Given the description of an element on the screen output the (x, y) to click on. 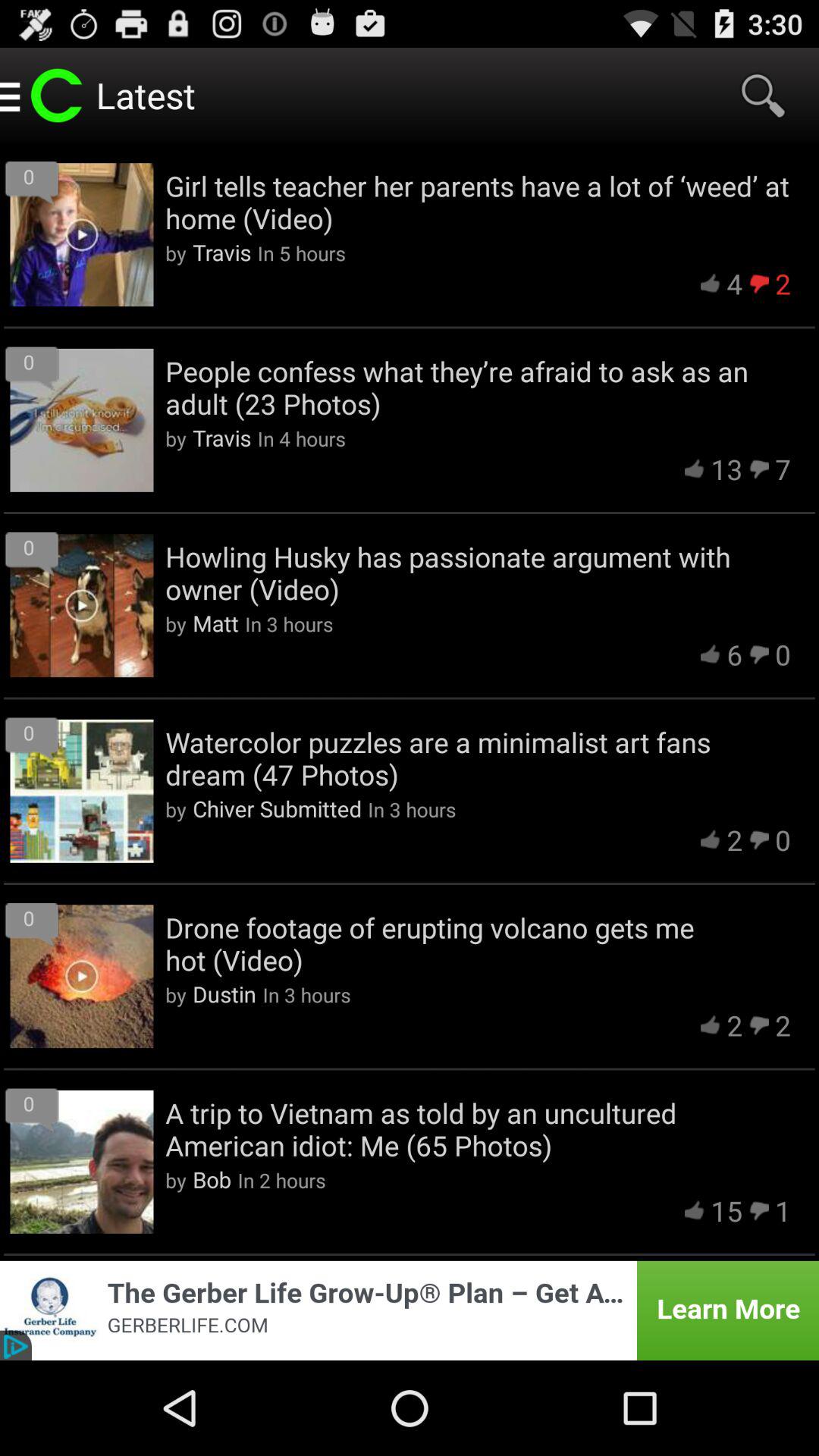
select the icon next to in 3 hours item (276, 808)
